Given the description of an element on the screen output the (x, y) to click on. 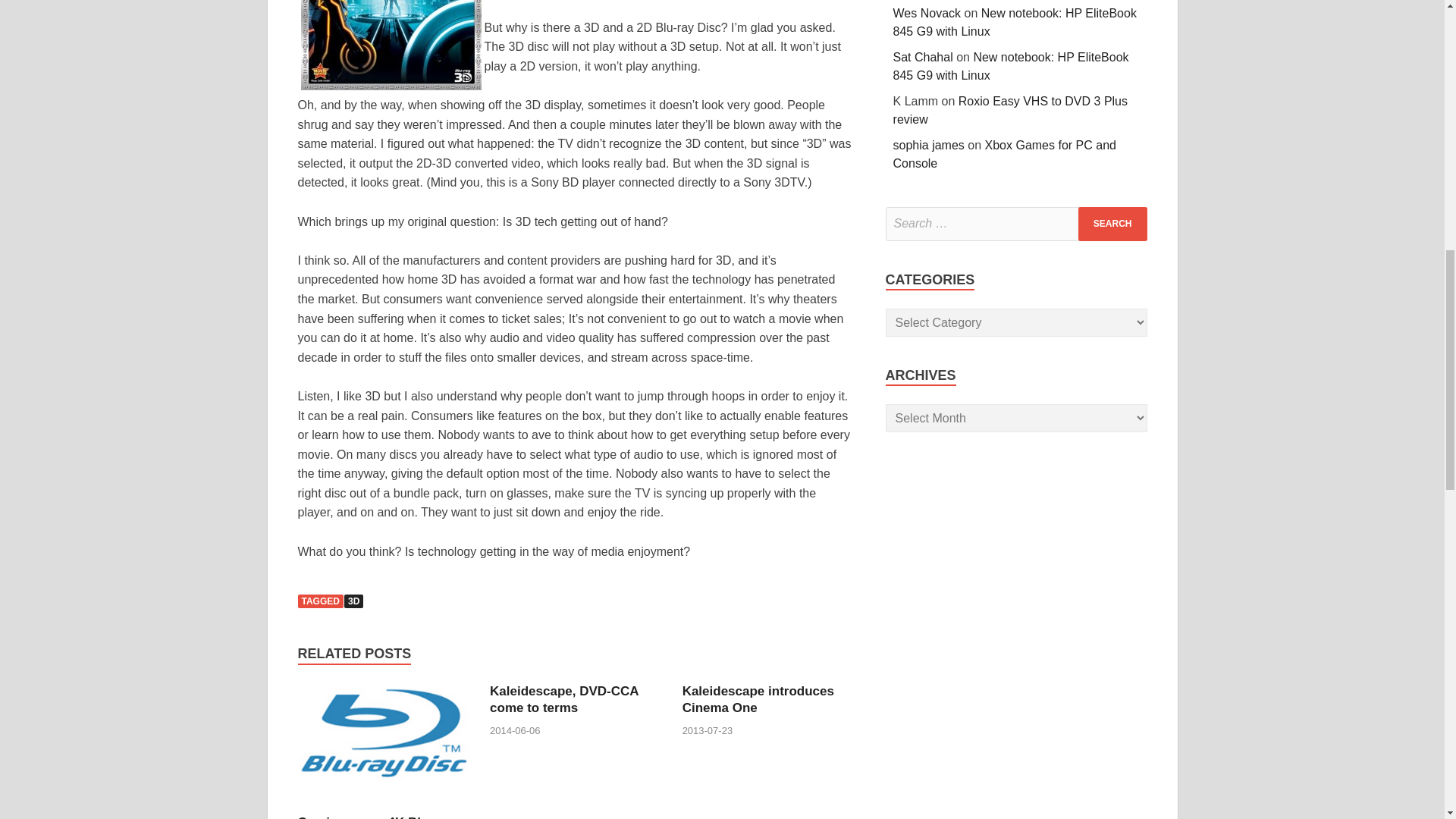
3D (352, 601)
Search (1112, 223)
Coming soon: 4K Blu-ray Discs (383, 804)
Kaleidescape introduces Cinema One (758, 698)
Kaleidescape, DVD-CCA come to terms (564, 698)
Coming soon: 4K Blu-ray Discs (374, 816)
Search (1112, 223)
Kaleidescape, DVD-CCA come to terms (564, 698)
Coming soon: 4K Blu-ray Discs (374, 816)
Kaleidescape introduces Cinema One (758, 698)
